Given the description of an element on the screen output the (x, y) to click on. 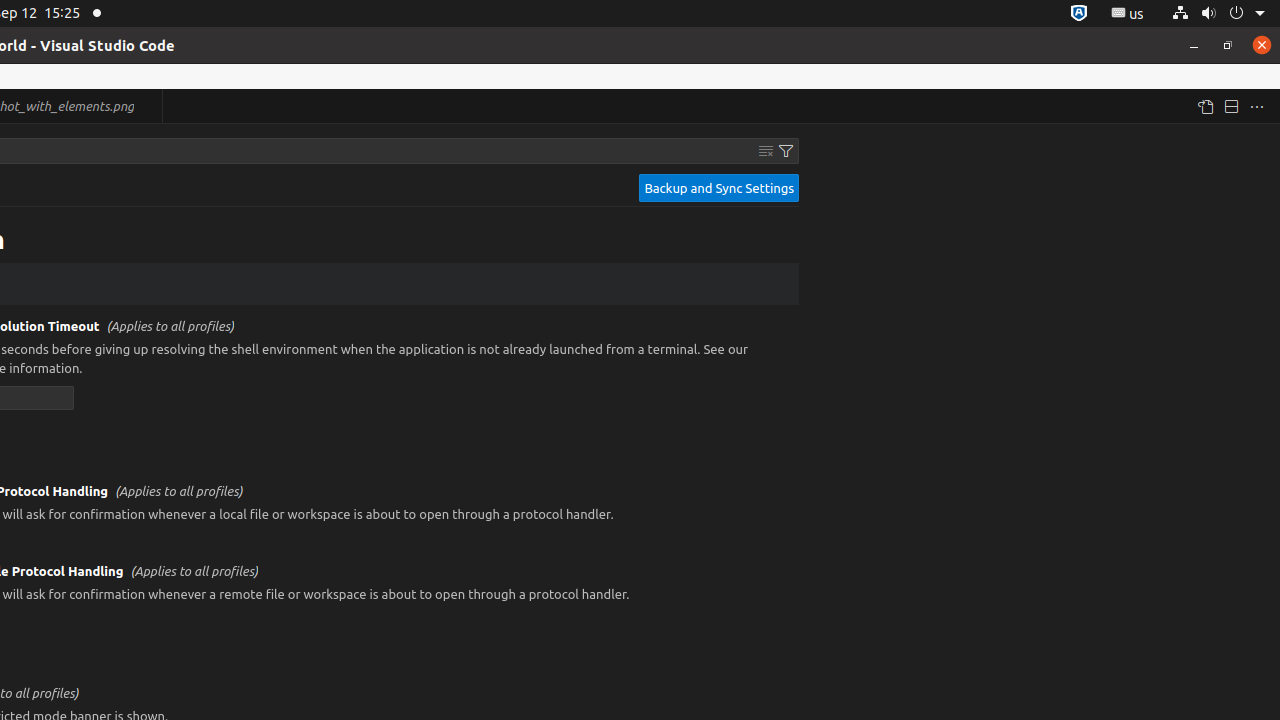
Split Editor Down Element type: push-button (1231, 106)
Close (Ctrl+W) Element type: push-button (148, 106)
More Actions... Element type: push-button (1257, 106)
